Given the description of an element on the screen output the (x, y) to click on. 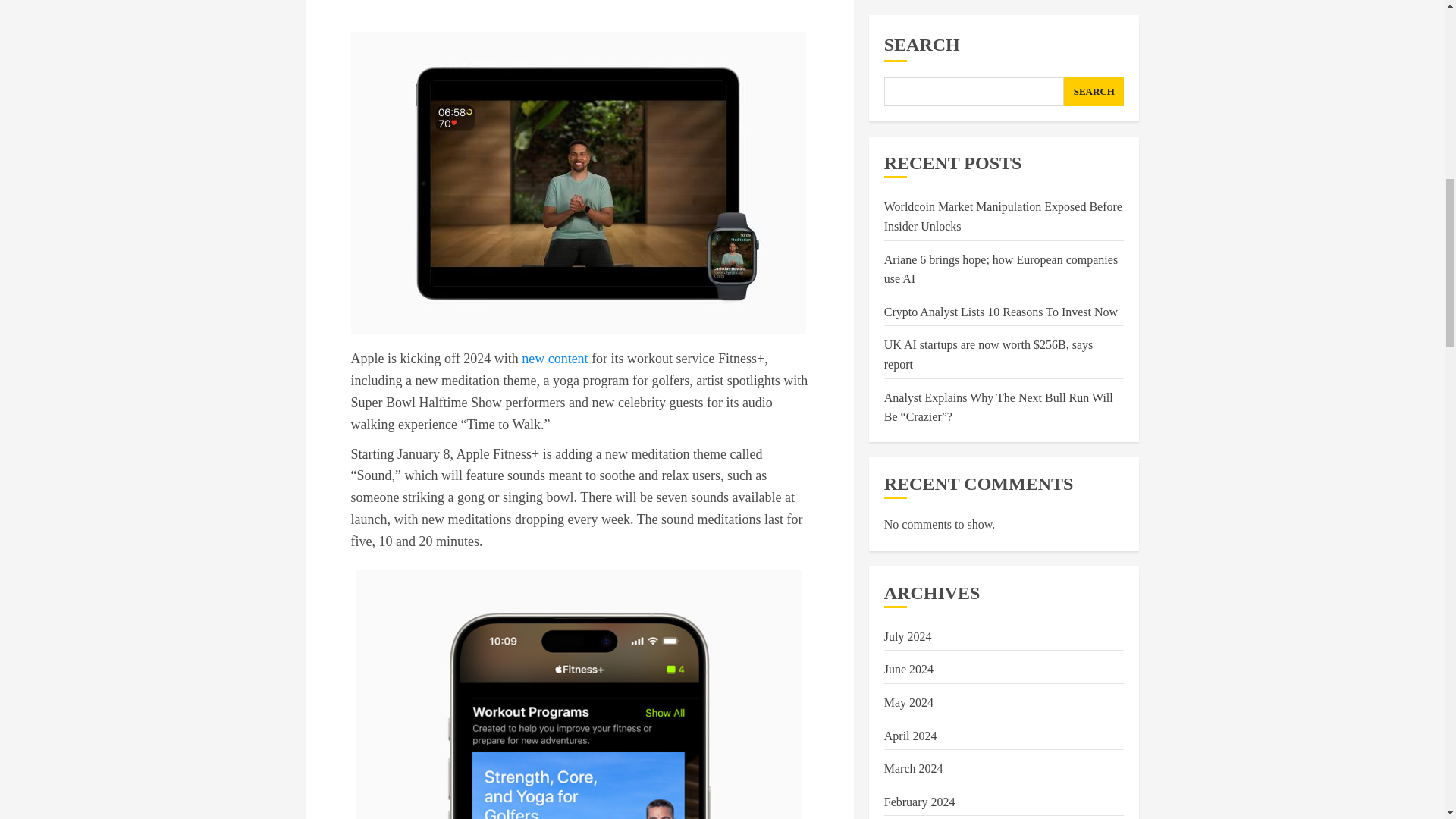
new content (554, 358)
